Given the description of an element on the screen output the (x, y) to click on. 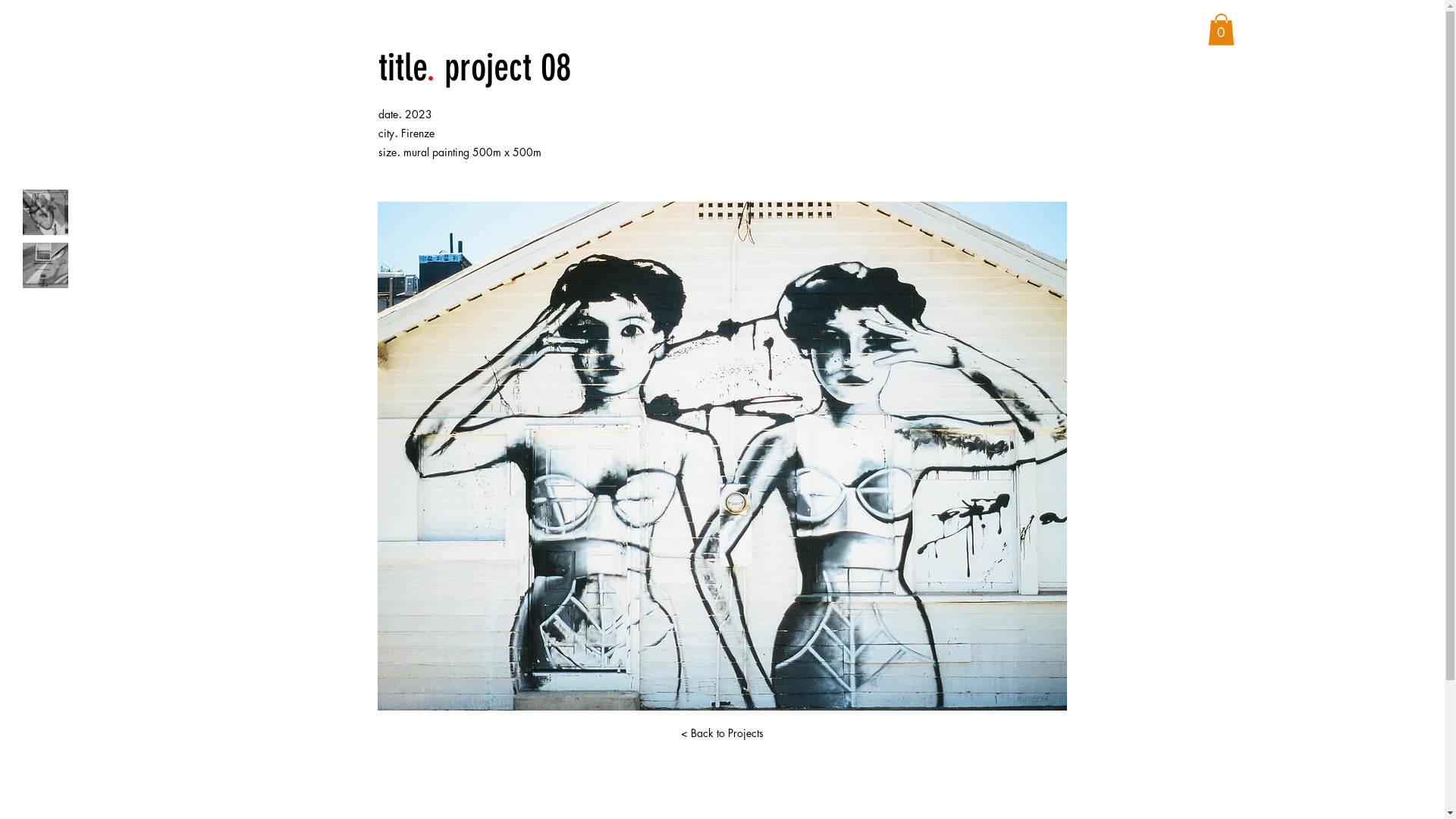
< Back to Projects Element type: text (722, 733)
0 Element type: text (1220, 29)
